Given the description of an element on the screen output the (x, y) to click on. 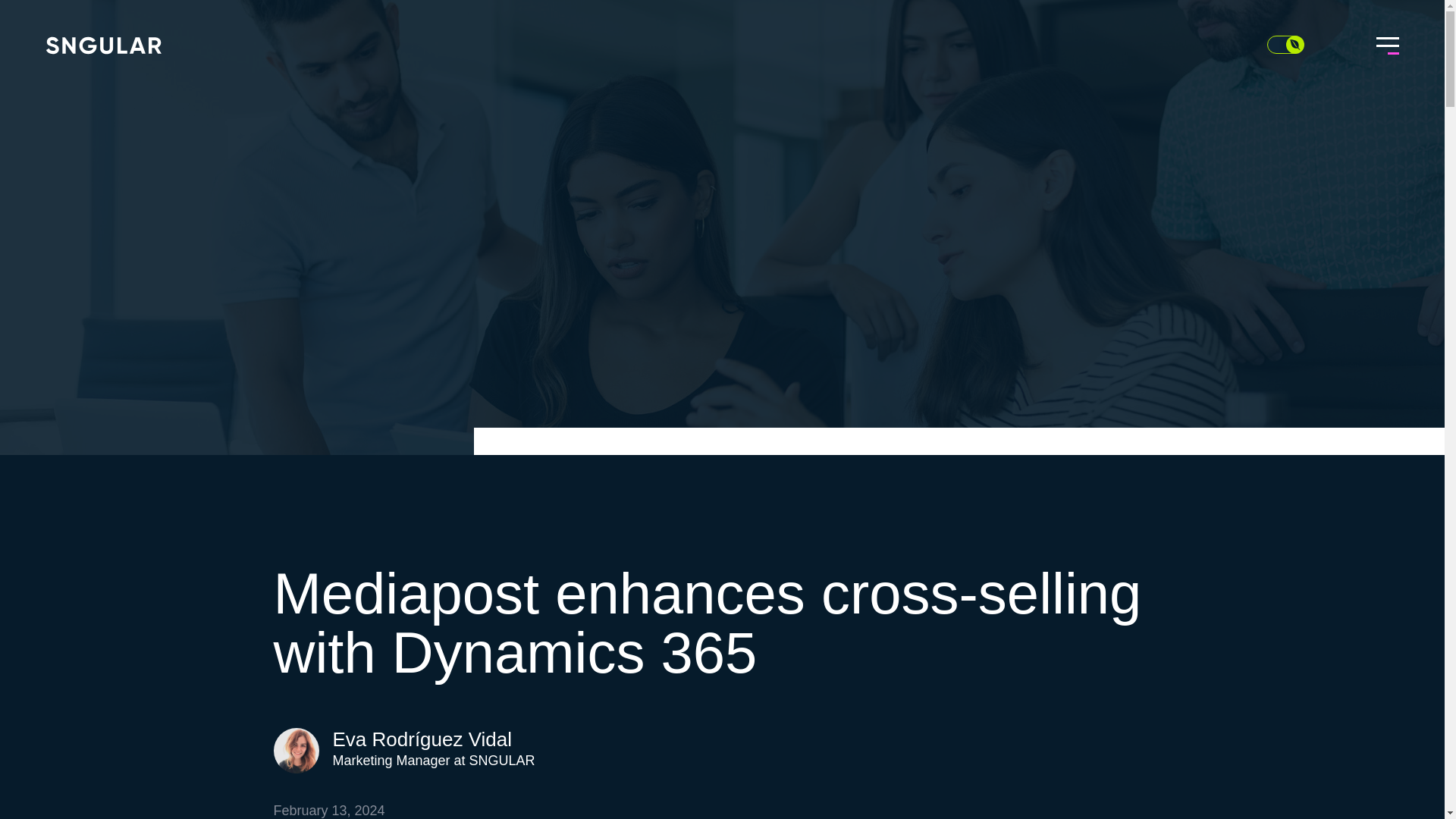
sngular (103, 45)
on (1285, 44)
sngular (103, 45)
